Given the description of an element on the screen output the (x, y) to click on. 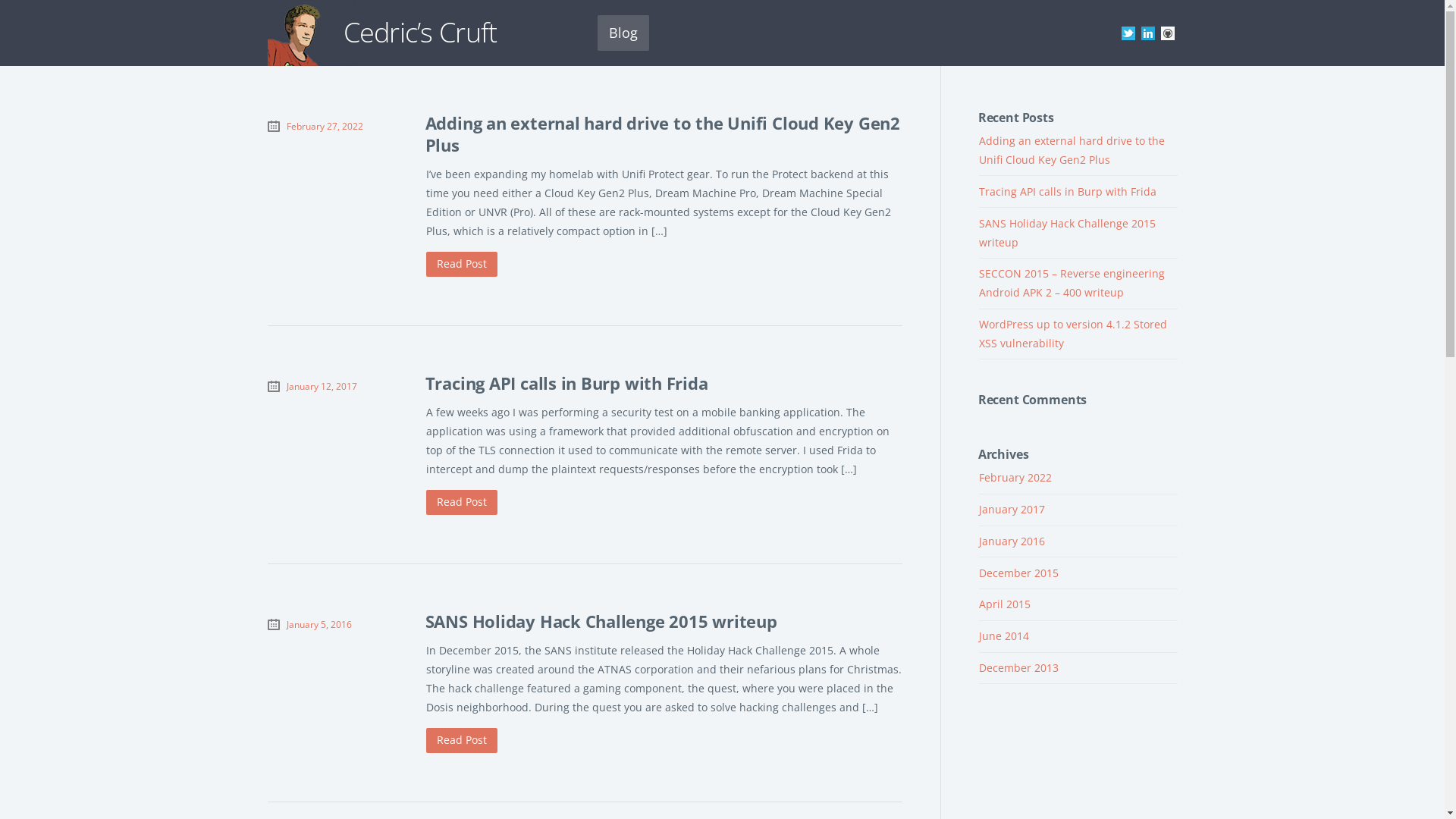
January 12, 2017 Element type: text (321, 385)
Tracing API calls in Burp with Frida Element type: text (1066, 191)
Blog Element type: text (623, 32)
SANS Holiday Hack Challenge 2015 writeup Element type: text (1066, 232)
April 2015 Element type: text (1003, 603)
Read Post Element type: text (461, 740)
December 2013 Element type: text (1017, 667)
Read Post Element type: text (461, 502)
February 27, 2022 Element type: text (324, 125)
Twitter Element type: hover (1127, 32)
WordPress up to version 4.1.2 Stored XSS vulnerability Element type: text (1072, 333)
Read Post Element type: text (461, 264)
February 2022 Element type: text (1014, 477)
December 2015 Element type: text (1017, 572)
Tracing API calls in Burp with Frida Element type: text (566, 383)
June 2014 Element type: text (1003, 635)
SANS Holiday Hack Challenge 2015 writeup Element type: text (601, 621)
LinkedIn Element type: hover (1147, 32)
GitHub Element type: hover (1166, 32)
January 2016 Element type: text (1011, 540)
January 5, 2016 Element type: text (318, 624)
January 2017 Element type: text (1011, 509)
